Given the description of an element on the screen output the (x, y) to click on. 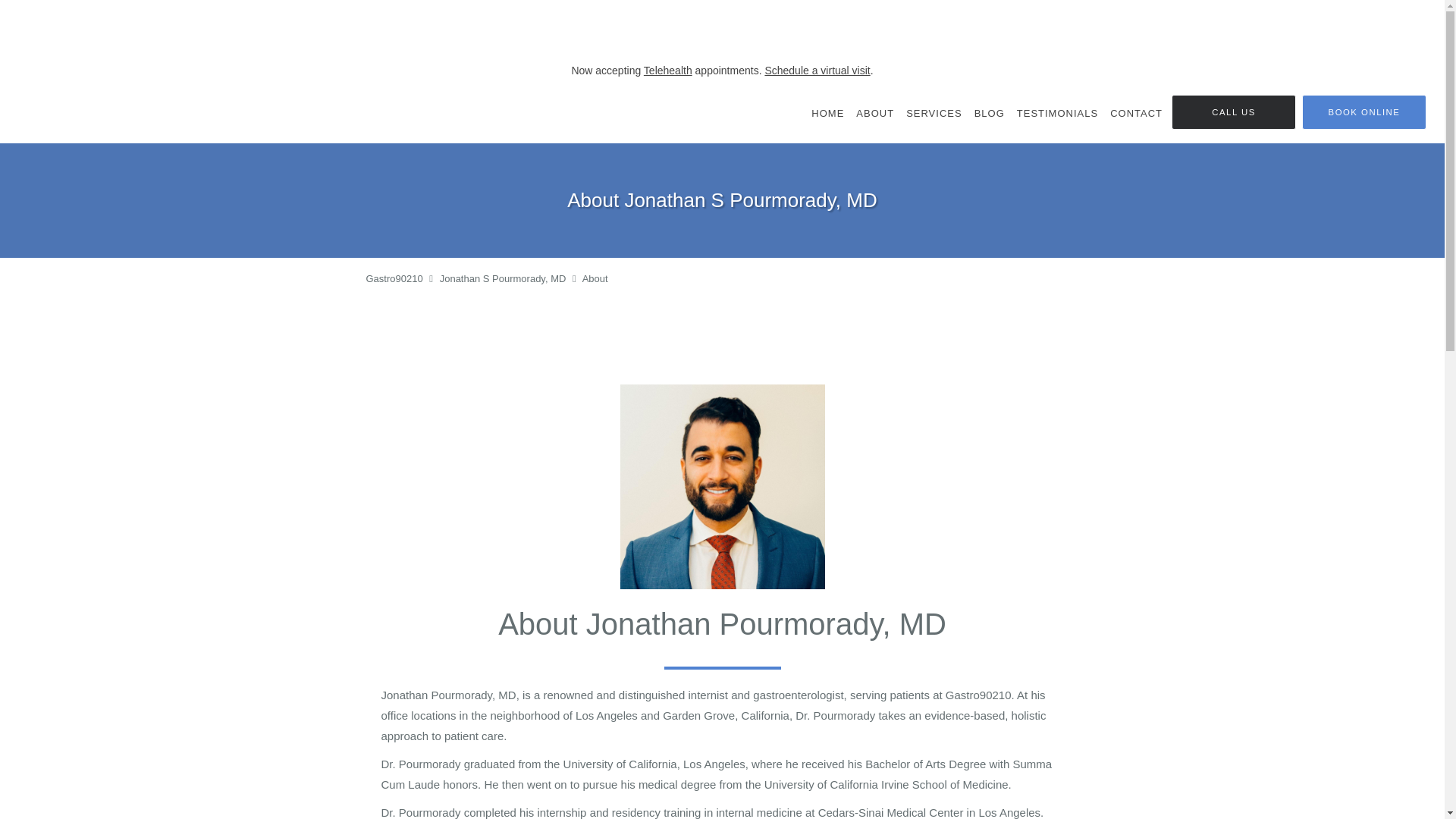
Skip to main content (74, 89)
Schedule a virtual visit (816, 70)
BOOK ONLINE (1363, 112)
CONTACT (1136, 112)
TESTIMONIALS (1056, 112)
Telehealth (668, 70)
SERVICES (933, 112)
CALL US (1233, 112)
